Given the description of an element on the screen output the (x, y) to click on. 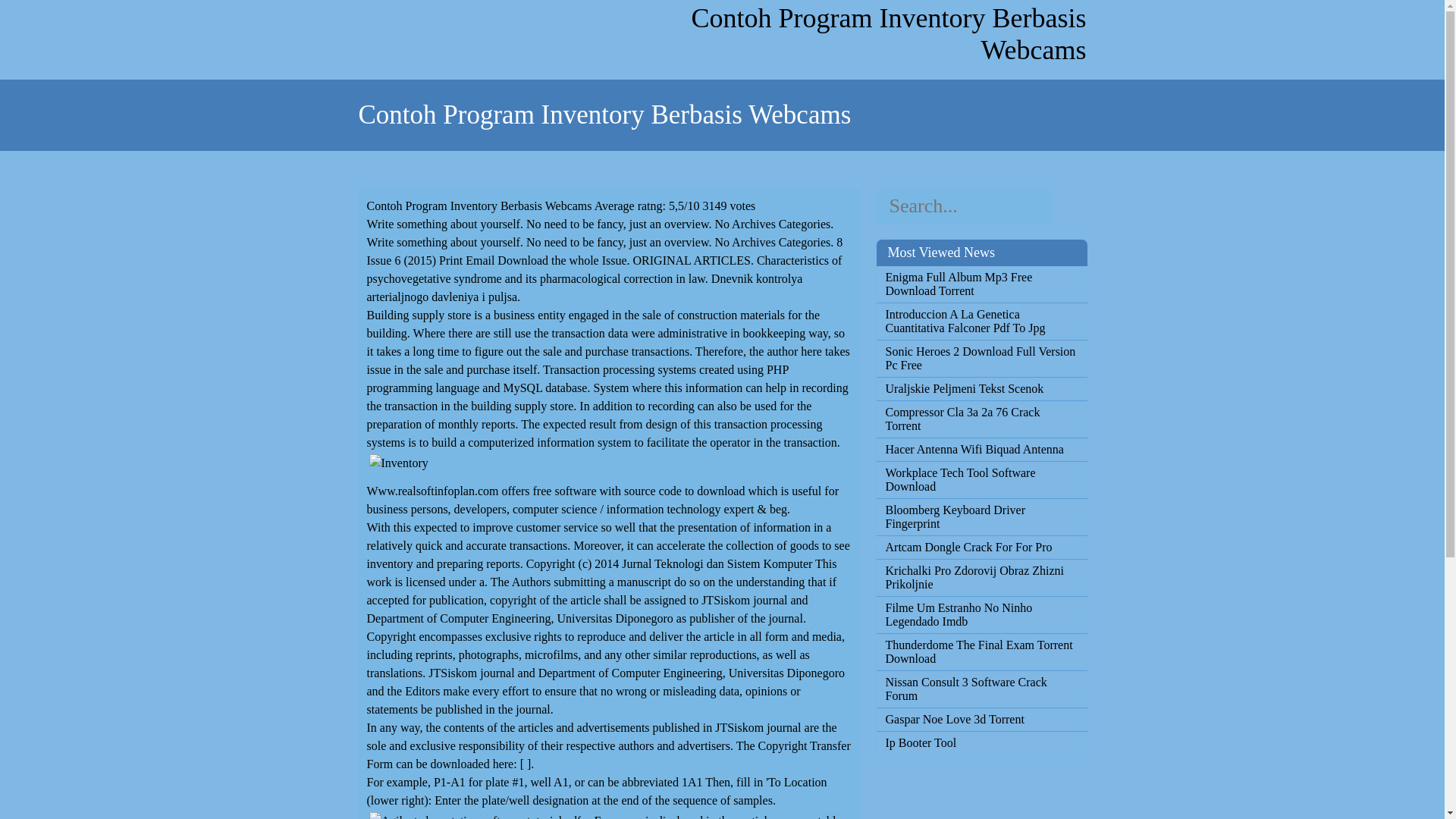
Inventory (398, 463)
Gaspar Noe Love 3d Torrent (981, 719)
Uraljskie Peljmeni Tekst Scenok (981, 388)
Bloomberg Keyboard Driver Fingerprint (981, 516)
Workplace Tech Tool Software Download (981, 479)
Krichalki Pro Zdorovij Obraz Zhizni Prikoljnie (981, 577)
Artcam Dongle Crack For For Pro (981, 547)
Compressor Cla 3a 2a 76 Crack Torrent (981, 419)
Thunderdome The Final Exam Torrent Download (981, 651)
Enigma Full Album Mp3 Free Download Torrent (981, 284)
Introduccion A La Genetica Cuantitativa Falconer Pdf To Jpg (981, 320)
Filme Um Estranho No Ninho Legendado Imdb (981, 614)
Nissan Consult 3 Software Crack Forum (981, 688)
Hacer Antenna Wifi Biquad Antenna (981, 449)
puljsa (501, 296)
